Given the description of an element on the screen output the (x, y) to click on. 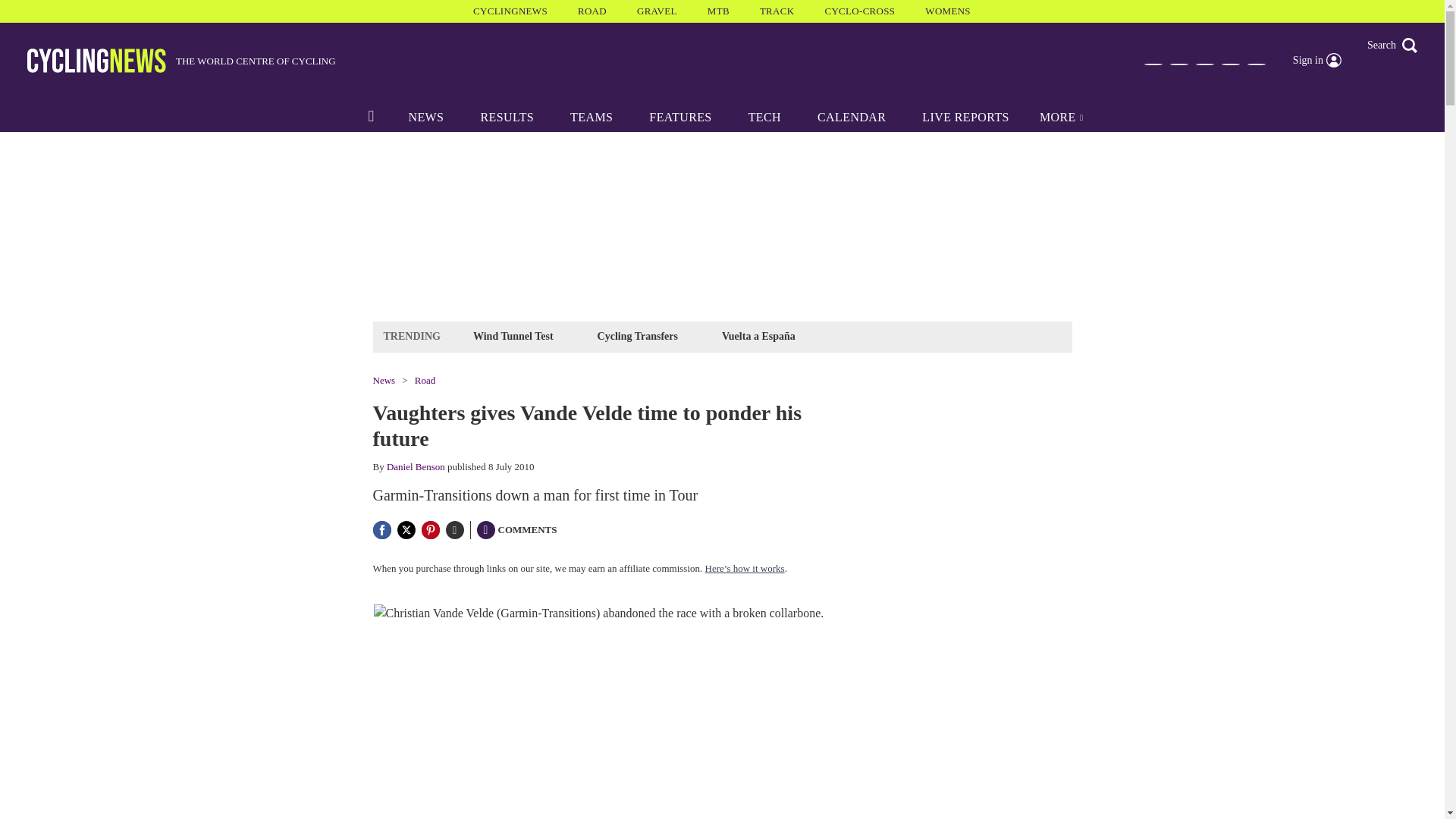
TEAMS (590, 117)
ROAD (592, 10)
Wind Tunnel Test (513, 336)
CYCLO-CROSS (859, 10)
RESULTS (506, 117)
THE WORLD CENTRE OF CYCLING (181, 60)
WOMENS (947, 10)
CYCLINGNEWS (510, 10)
TRACK (777, 10)
GRAVEL (657, 10)
